Given the description of an element on the screen output the (x, y) to click on. 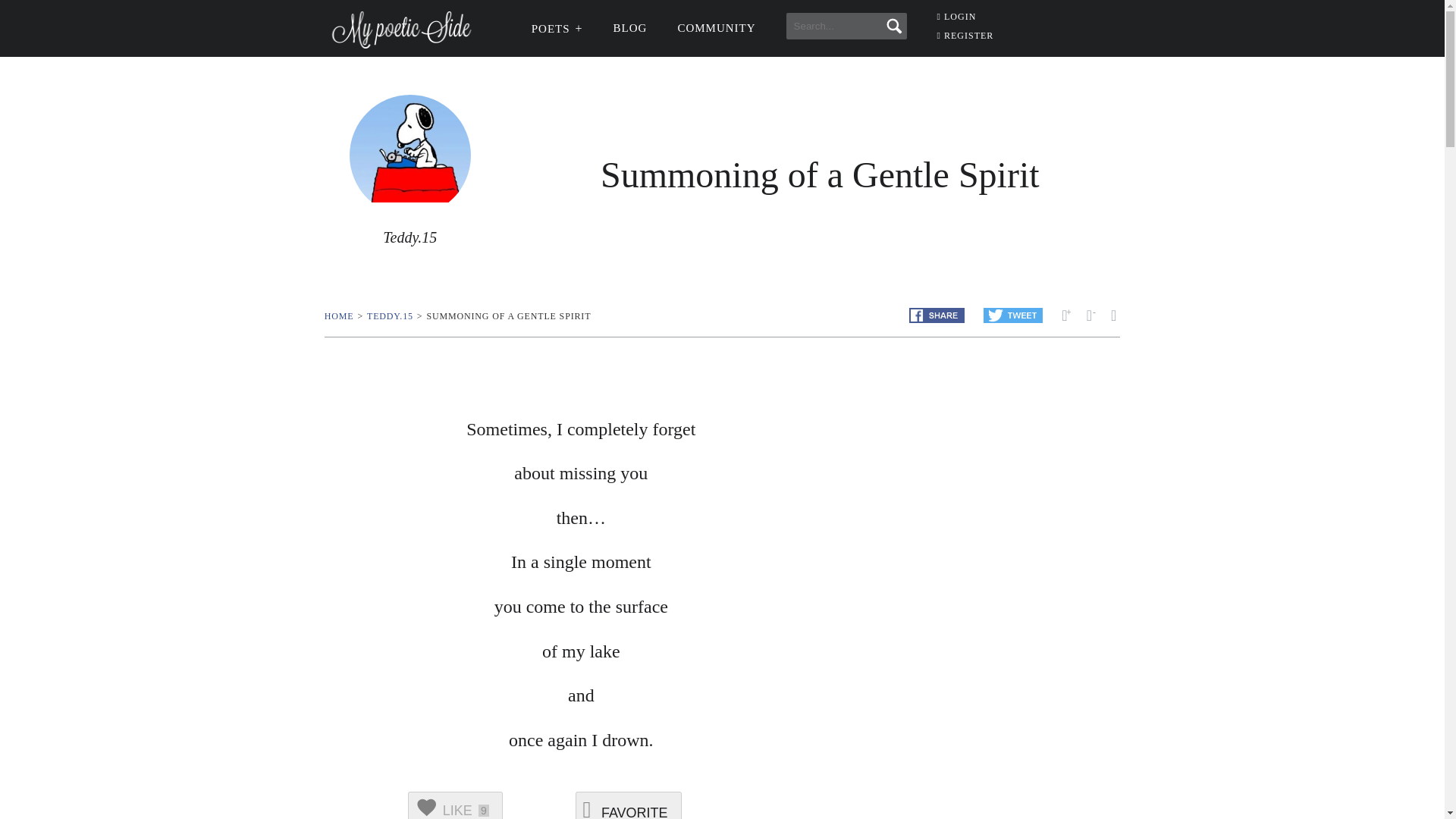
 LOGIN (956, 16)
 REGISTER (965, 35)
